Given the description of an element on the screen output the (x, y) to click on. 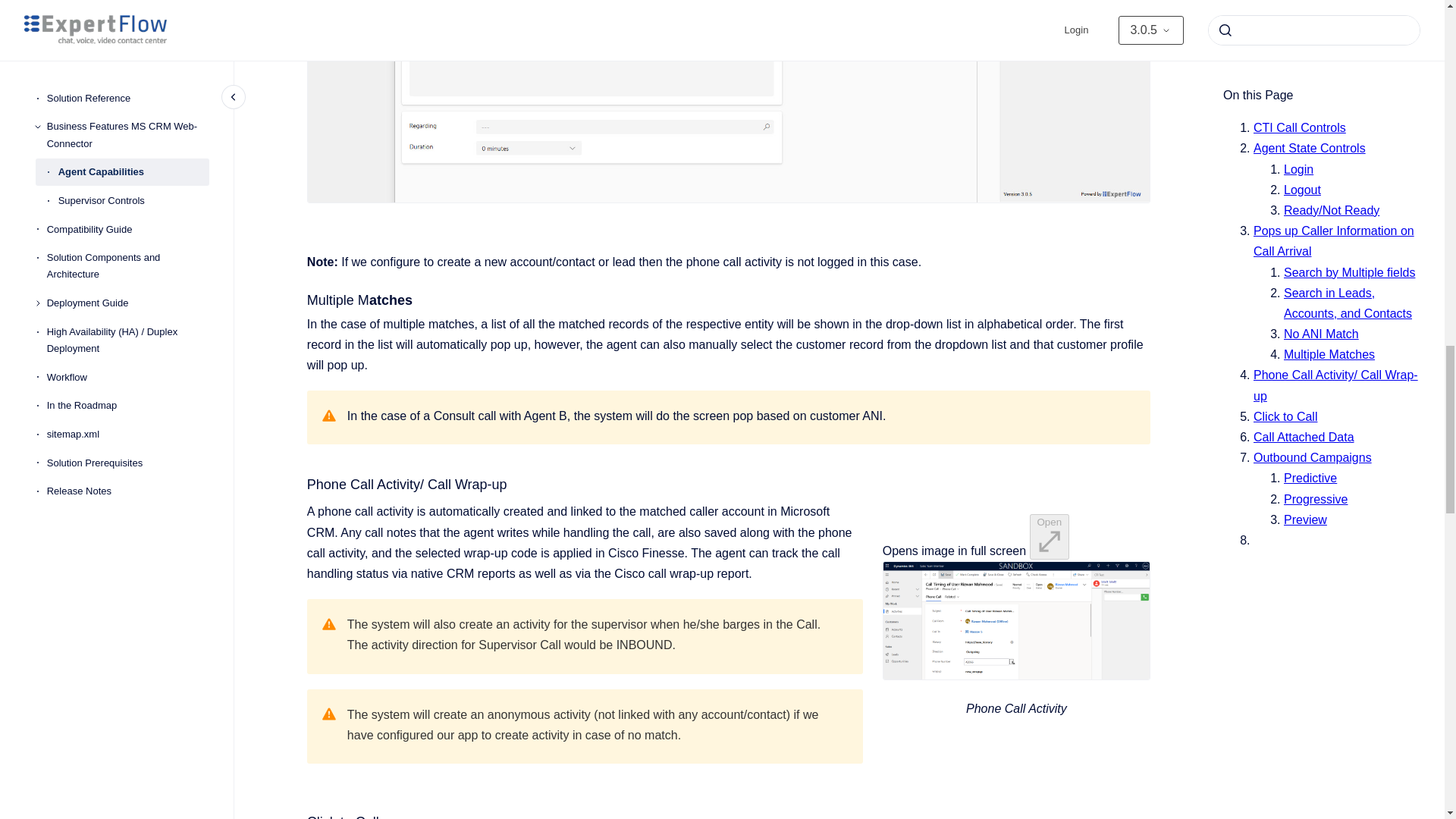
Copy to clipboard (300, 815)
Copy to clipboard (300, 483)
Copy to clipboard (300, 298)
